Given the description of an element on the screen output the (x, y) to click on. 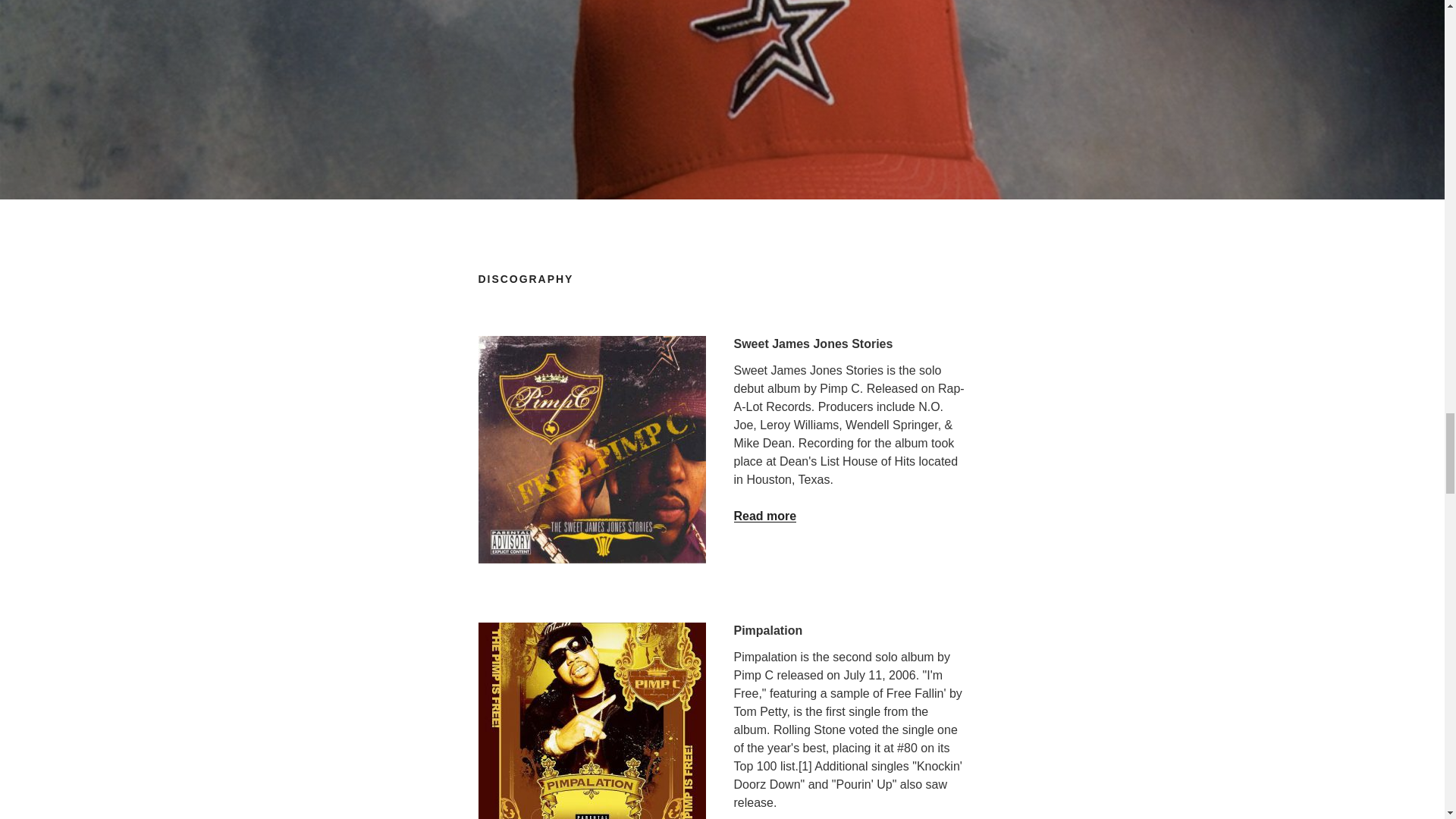
Read more (764, 515)
Sweet James Jones Story (590, 449)
Pimpalation (590, 720)
